Given the description of an element on the screen output the (x, y) to click on. 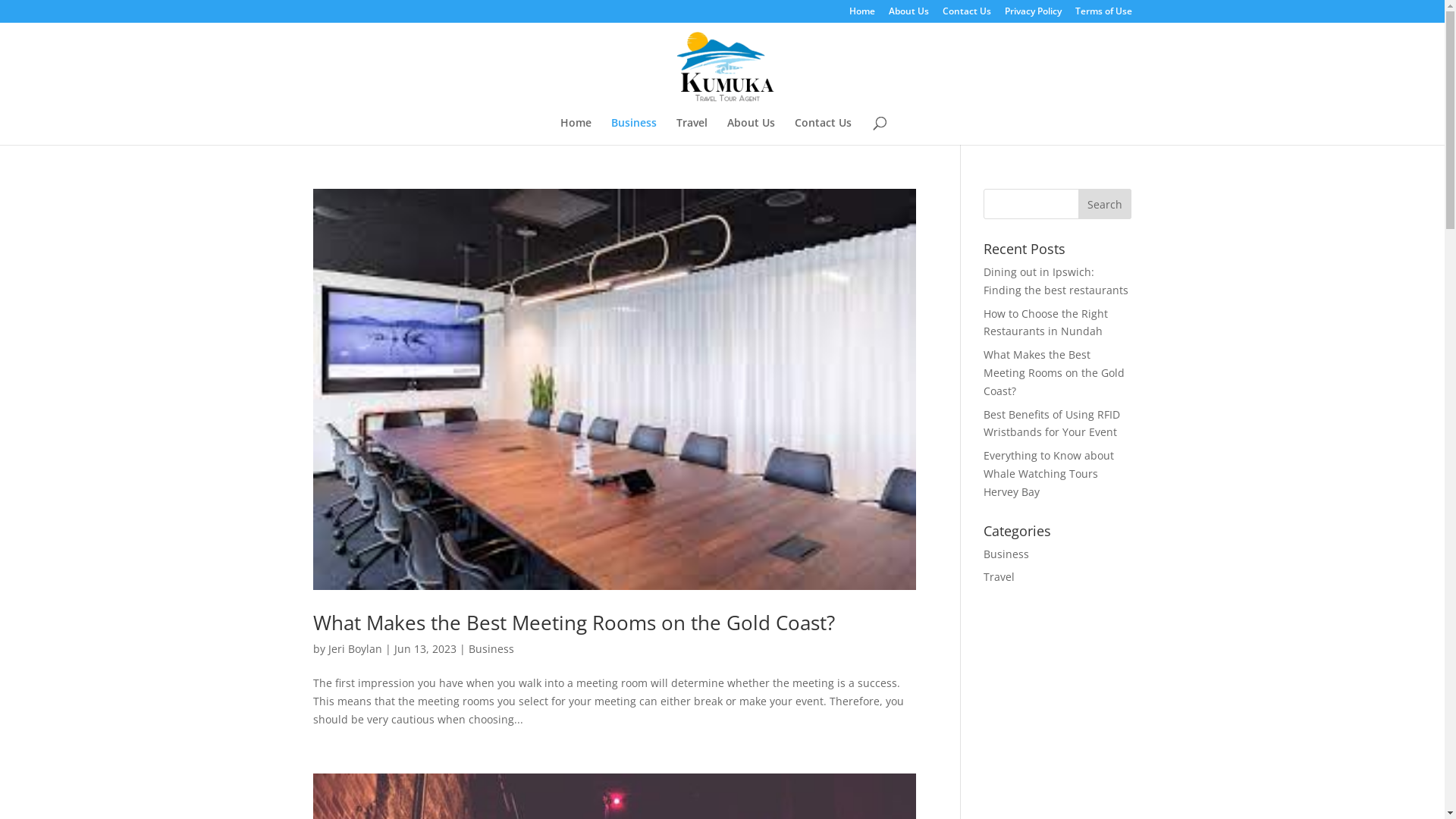
About Us Element type: text (750, 130)
About Us Element type: text (908, 14)
Home Element type: text (574, 130)
Jeri Boylan Element type: text (354, 648)
Privacy Policy Element type: text (1032, 14)
How to Choose the Right Restaurants in Nundah Element type: text (1045, 322)
Contact Us Element type: text (965, 14)
Everything to Know about Whale Watching Tours Hervey Bay Element type: text (1048, 473)
Dining out in Ipswich: Finding the best restaurants Element type: text (1055, 280)
Best Benefits of Using RFID Wristbands for Your Event Element type: text (1051, 423)
What Makes the Best Meeting Rooms on the Gold Coast? Element type: text (573, 622)
Business Element type: text (491, 648)
Search Element type: text (1104, 203)
Home Element type: text (862, 14)
Contact Us Element type: text (822, 130)
Business Element type: text (1006, 553)
Travel Element type: text (998, 576)
Business Element type: text (633, 130)
What Makes the Best Meeting Rooms on the Gold Coast? Element type: text (1053, 372)
Terms of Use Element type: text (1103, 14)
Travel Element type: text (691, 130)
